Given the description of an element on the screen output the (x, y) to click on. 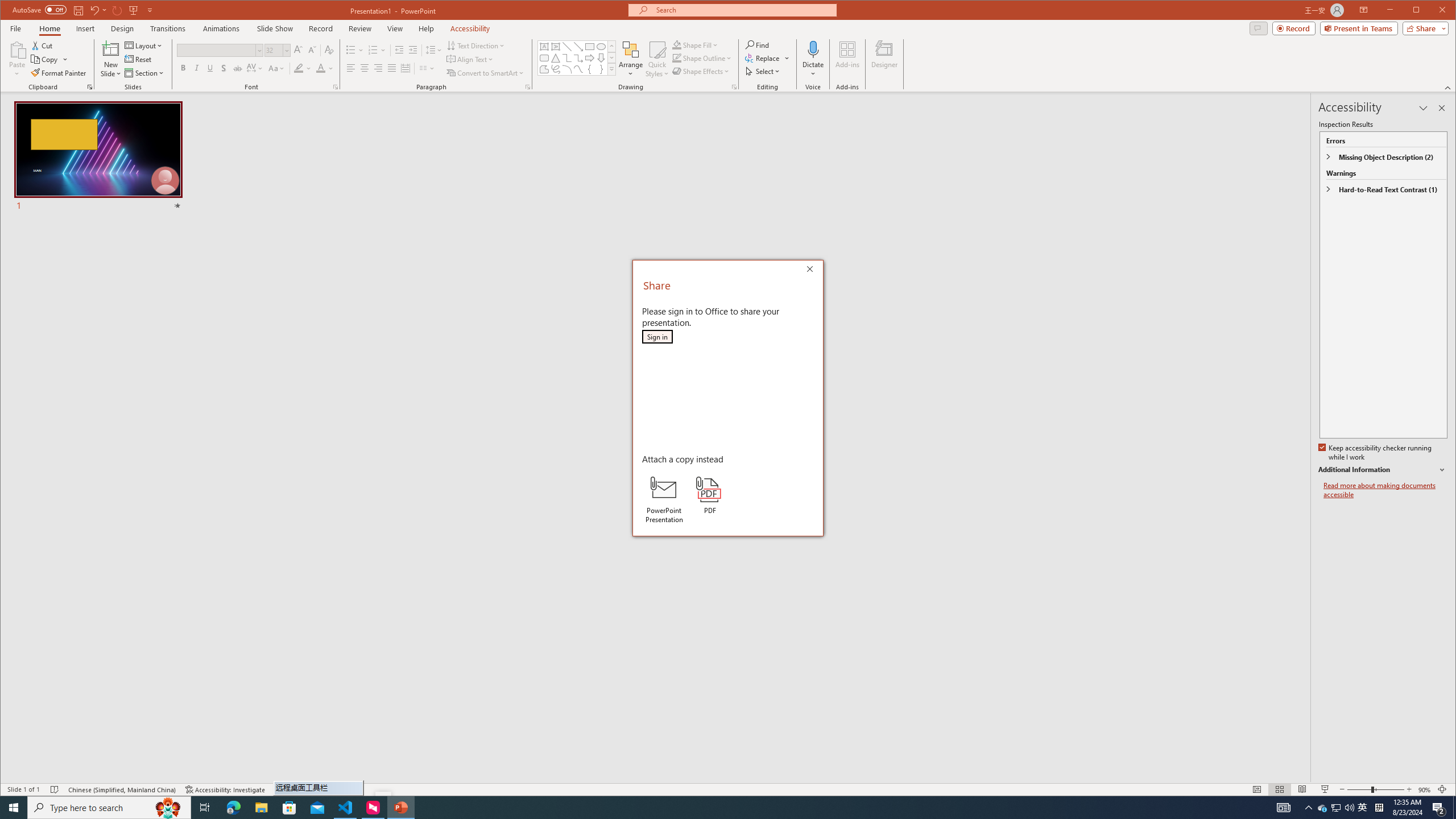
Section (144, 72)
Left Brace (589, 69)
Shape Outline Blue, Accent 1 (676, 57)
Microsoft Edge (233, 807)
Notification Chevron (1308, 807)
Arrange (631, 59)
File Explorer (261, 807)
Font... (335, 86)
Action Center, 2 new notifications (1439, 807)
